Given the description of an element on the screen output the (x, y) to click on. 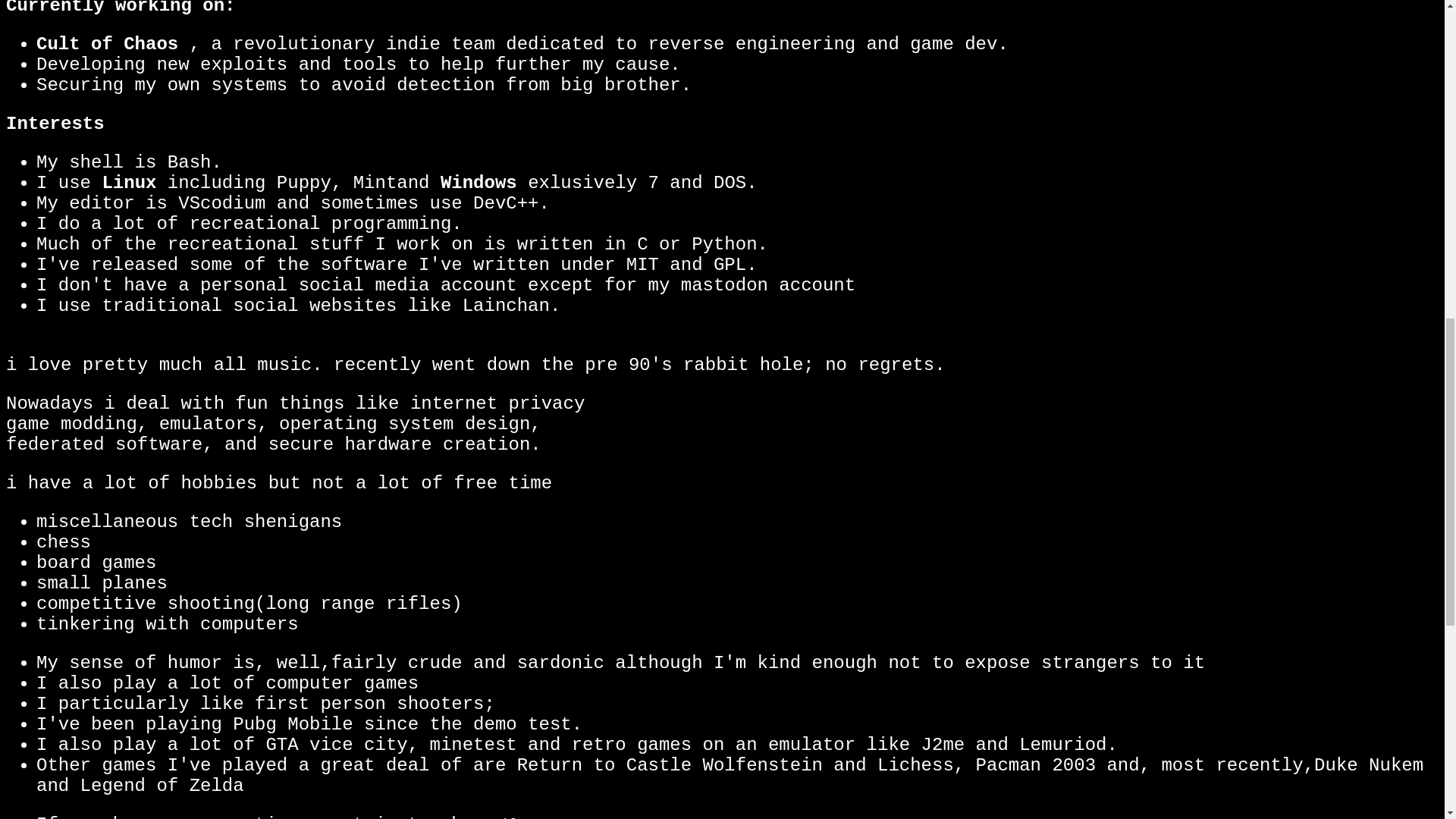
Email (495, 817)
